Given the description of an element on the screen output the (x, y) to click on. 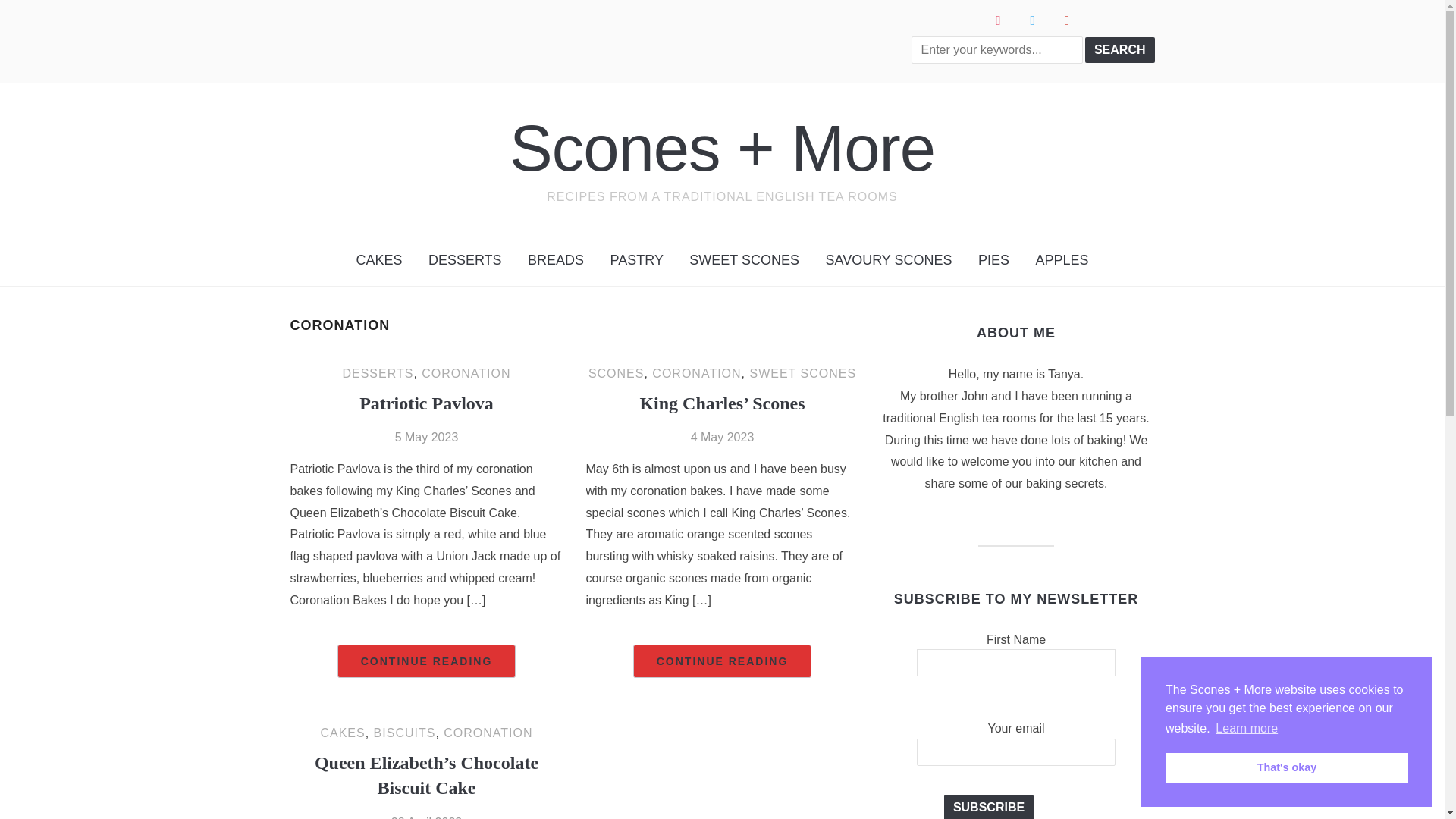
instagram (998, 19)
Recipes from a traditional English tea rooms (721, 148)
pinterest (1067, 19)
Subscribe (988, 806)
Search (1119, 49)
Search (1119, 49)
Permalink to Patriotic Pavlova (426, 661)
twitter (1032, 19)
Search (1119, 49)
